Given the description of an element on the screen output the (x, y) to click on. 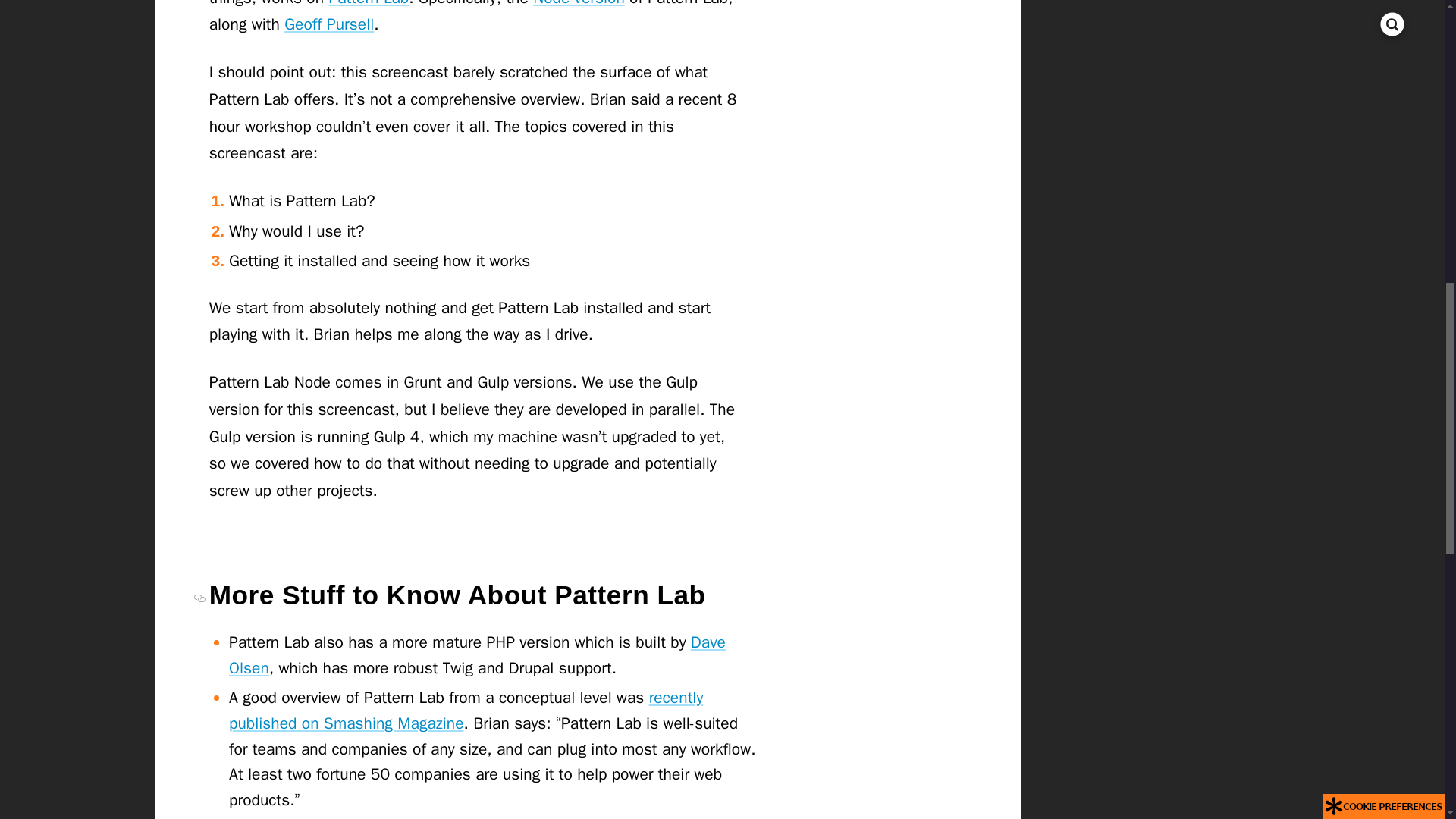
Dave Olsen (476, 655)
Geoff Pursell (328, 24)
Node version (578, 3)
Pattern Lab (369, 3)
recently published on Smashing Magazine (465, 710)
